Given the description of an element on the screen output the (x, y) to click on. 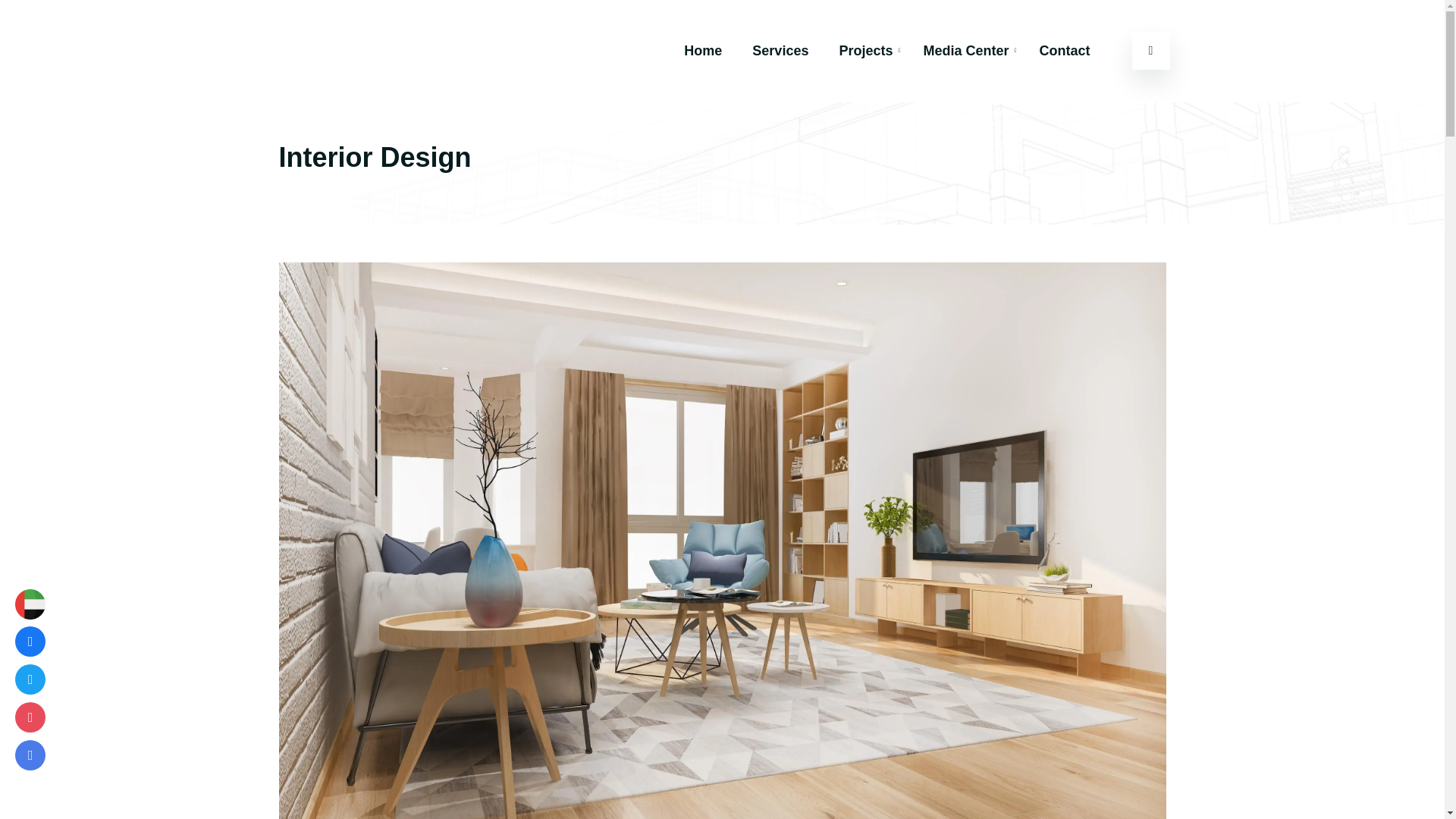
Contact (1063, 50)
Services (779, 50)
Home (703, 50)
Media Center (965, 50)
Projects (865, 50)
